Given the description of an element on the screen output the (x, y) to click on. 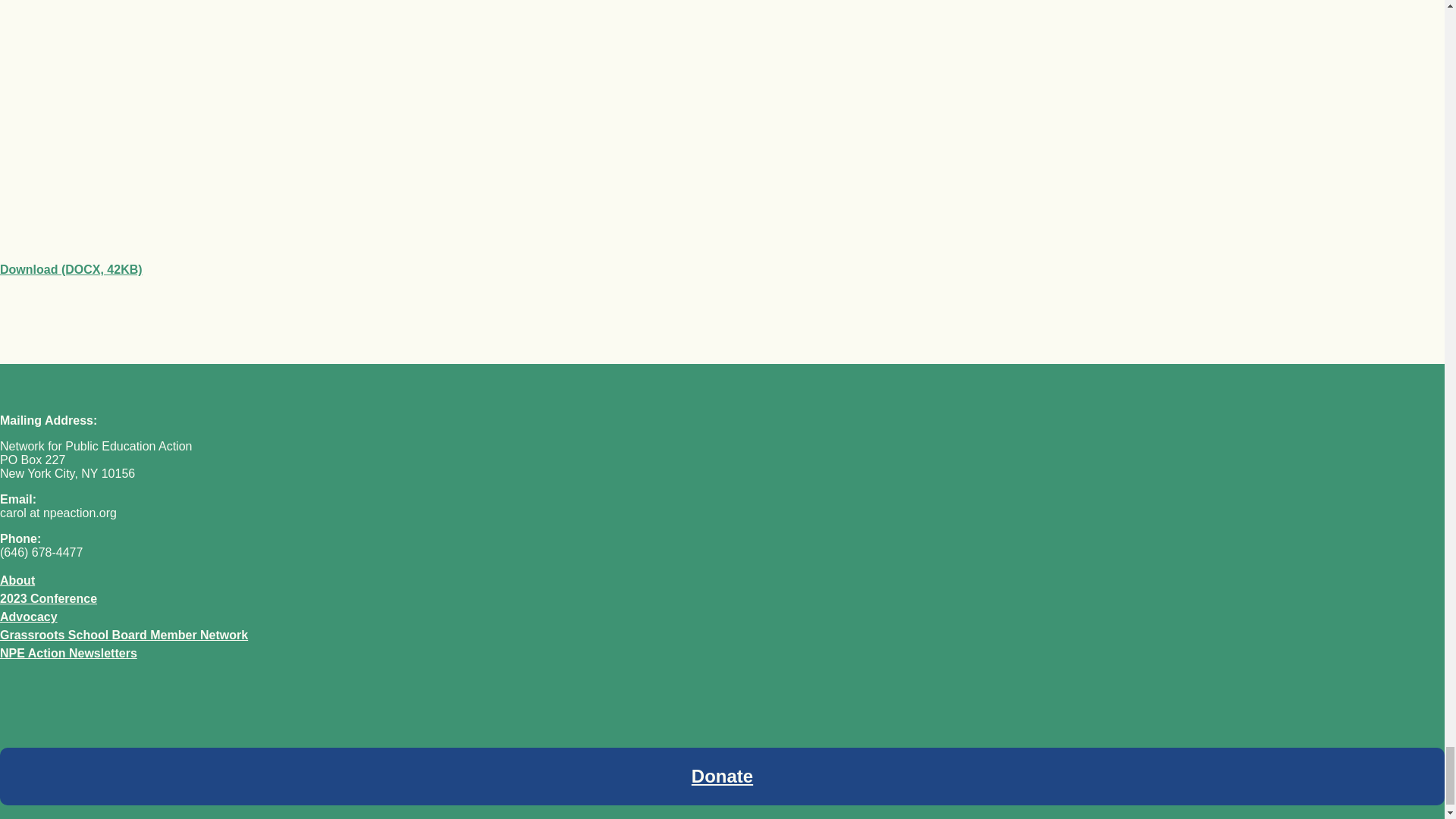
Grassroots School Board Member Network (123, 634)
2023 Conference (48, 598)
About (17, 580)
NPE Action Newsletters (68, 653)
Advocacy (29, 616)
